Given the description of an element on the screen output the (x, y) to click on. 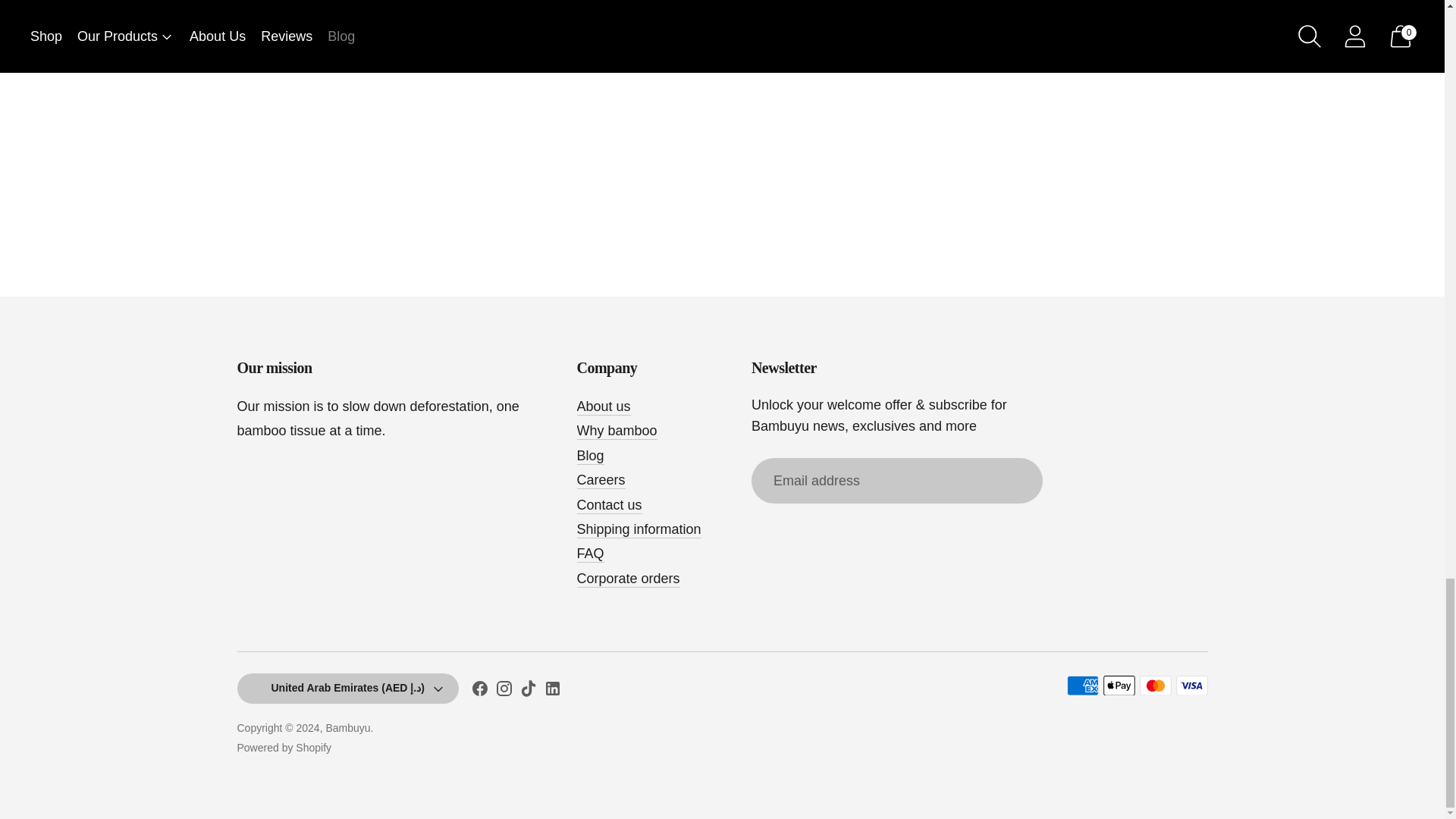
Mastercard (1154, 685)
Visa (1190, 685)
Apple Pay (1118, 685)
American Express (1081, 685)
